Given the description of an element on the screen output the (x, y) to click on. 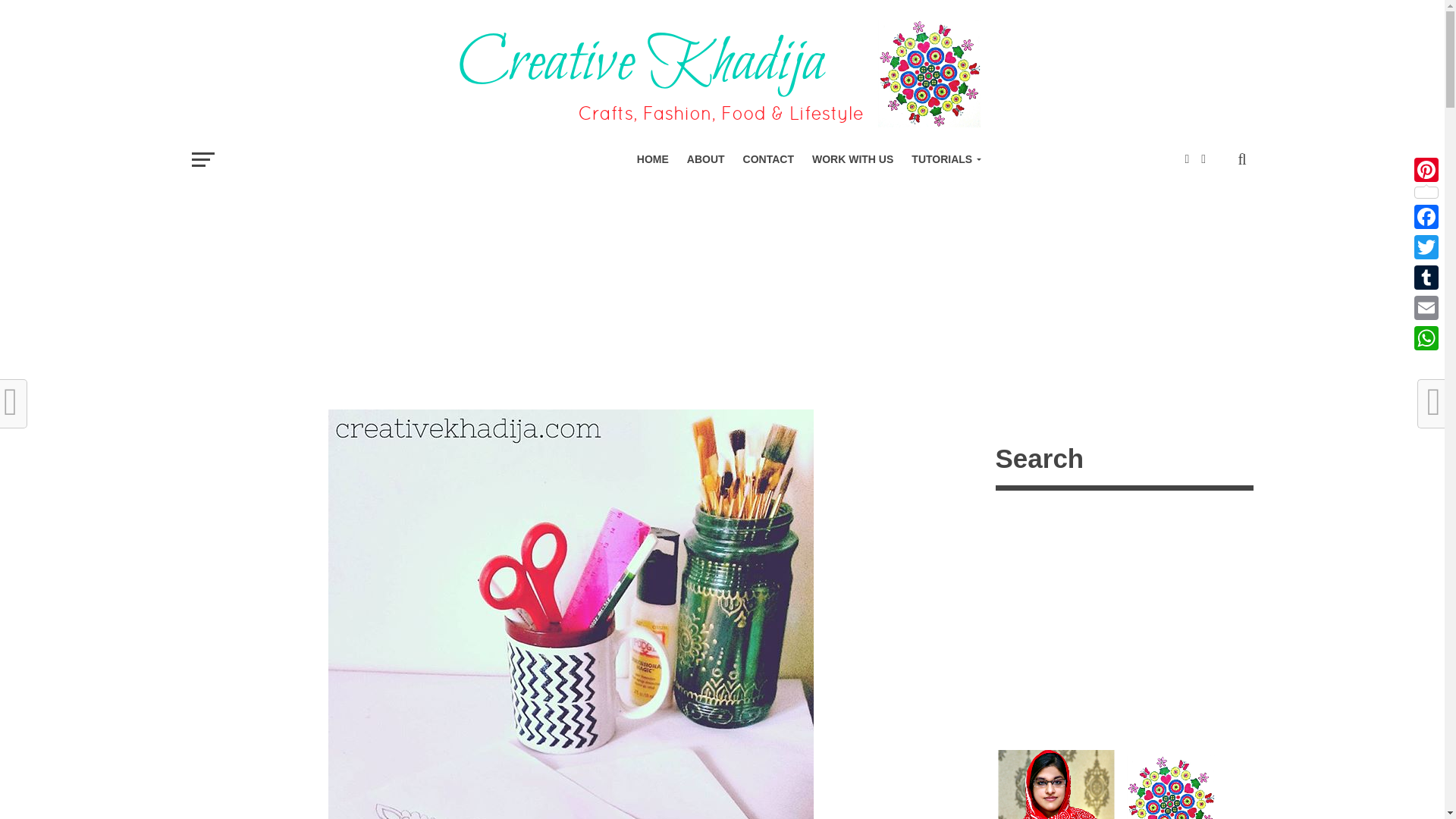
Search (1123, 461)
HOME (652, 158)
ABOUT (705, 158)
WORK WITH US (852, 158)
CONTACT (768, 158)
TUTORIALS (943, 158)
